Given the description of an element on the screen output the (x, y) to click on. 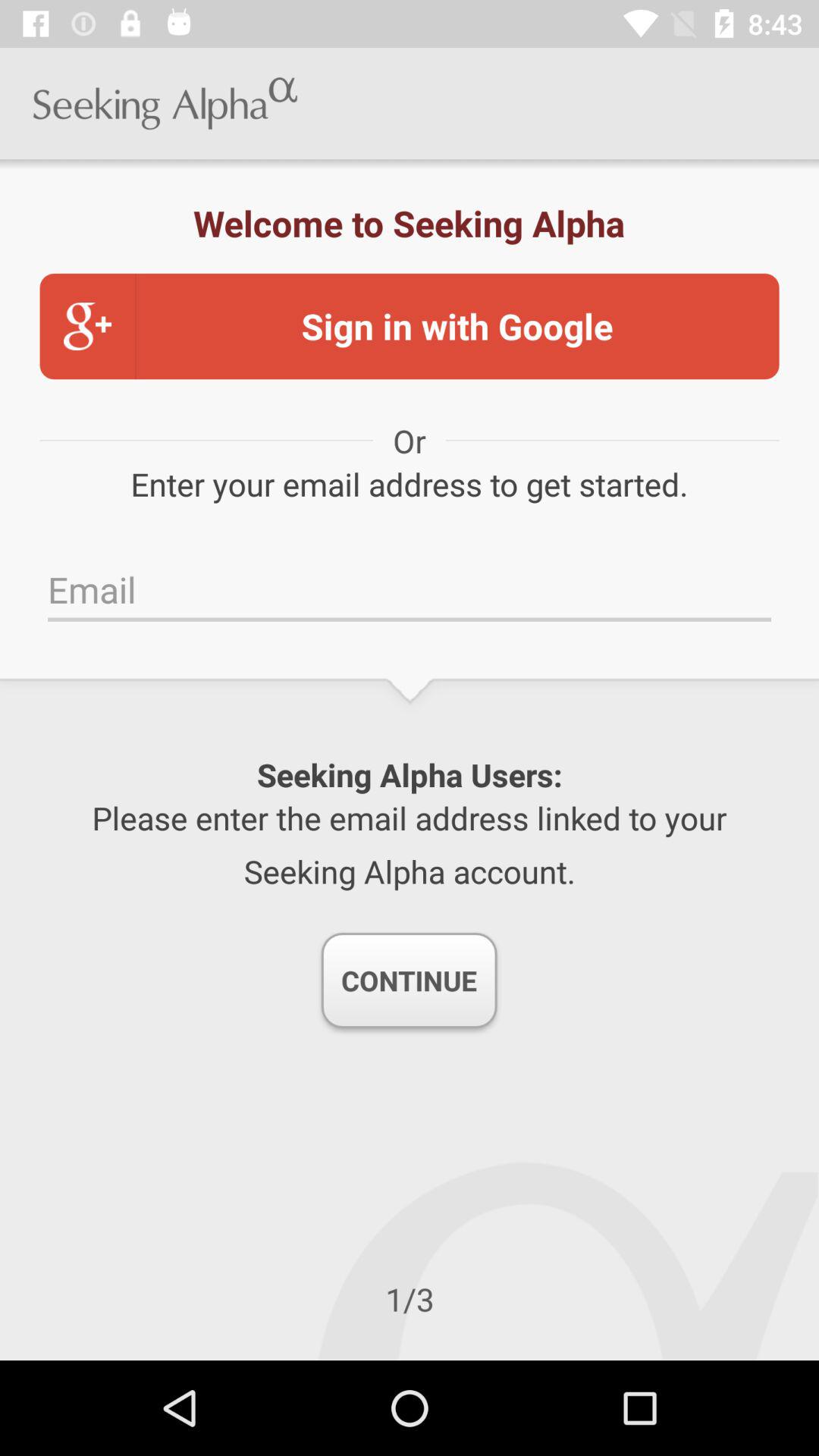
jump to the continue (409, 980)
